Given the description of an element on the screen output the (x, y) to click on. 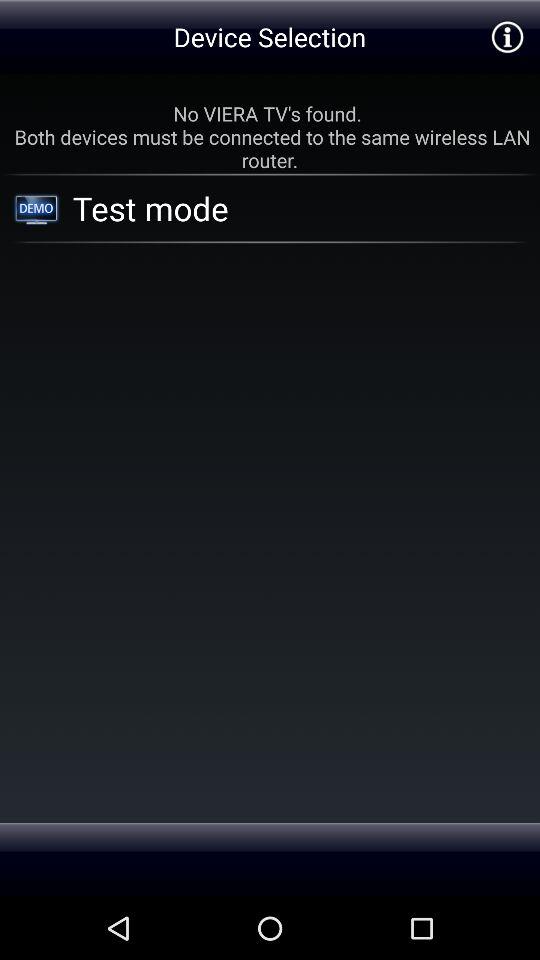
additional information (506, 36)
